Given the description of an element on the screen output the (x, y) to click on. 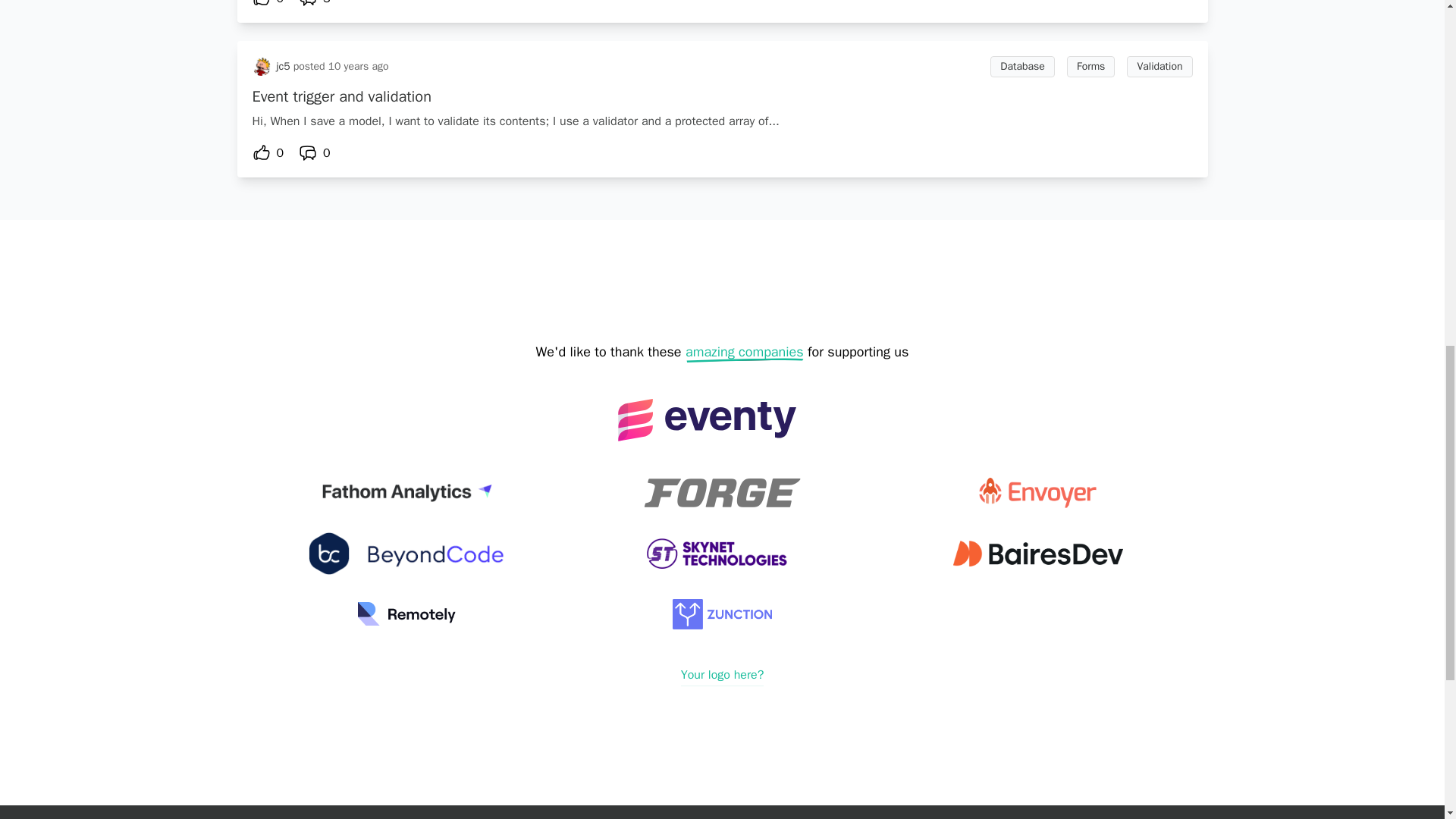
jc5 (282, 66)
